Given the description of an element on the screen output the (x, y) to click on. 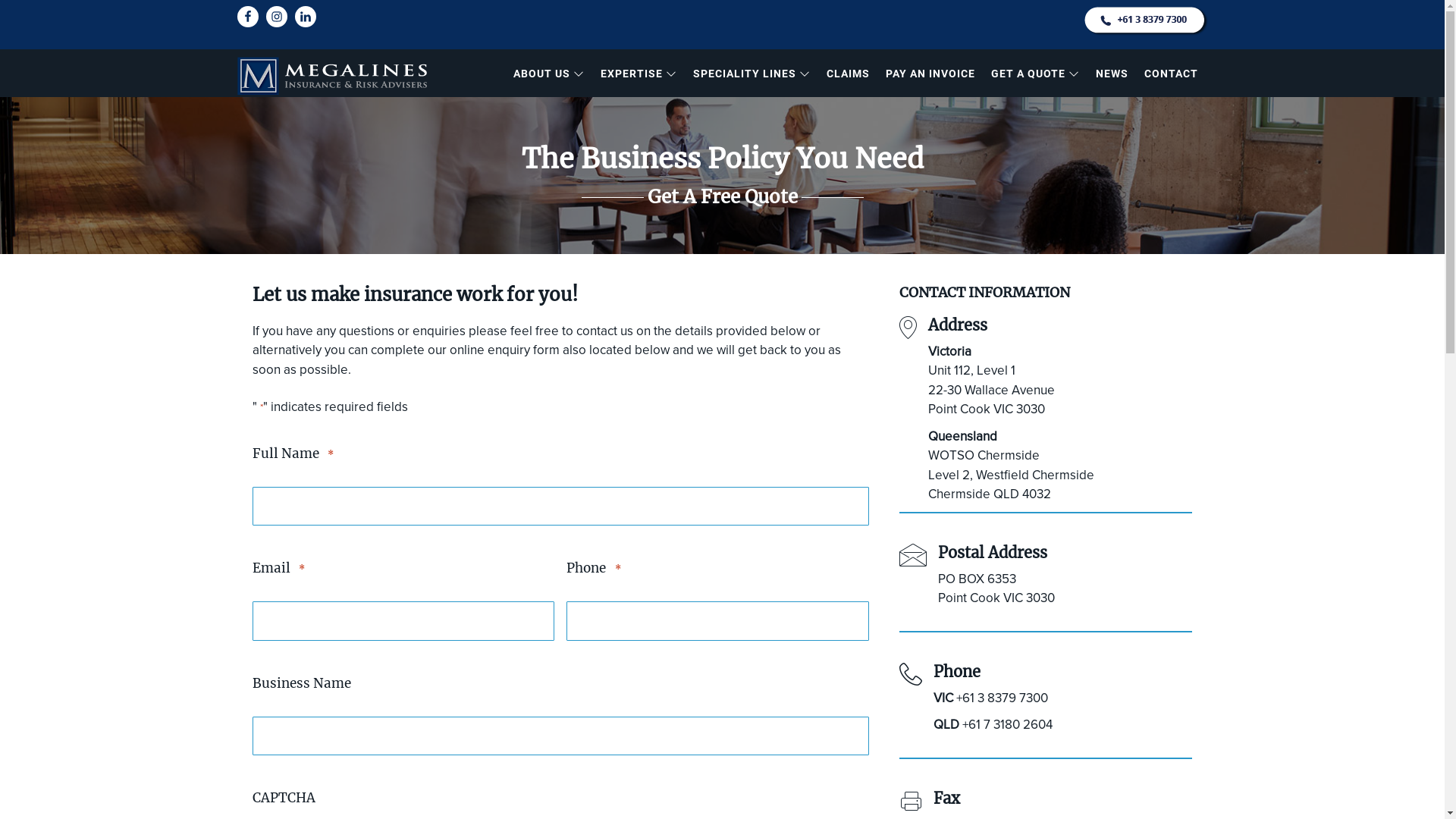
ABOUT US Element type: text (547, 72)
CONTACT Element type: text (1170, 72)
EXPERTISE Element type: text (638, 72)
SPECIALITY LINES Element type: text (751, 72)
MEGALINES INSURANCE AND RISK ADVISERS Element type: text (387, 102)
Skip to primary navigation Element type: text (0, 0)
GET A QUOTE Element type: text (1034, 72)
NEWS Element type: text (1110, 72)
PAY AN INVOICE Element type: text (930, 72)
CLAIMS Element type: text (847, 72)
